Given the description of an element on the screen output the (x, y) to click on. 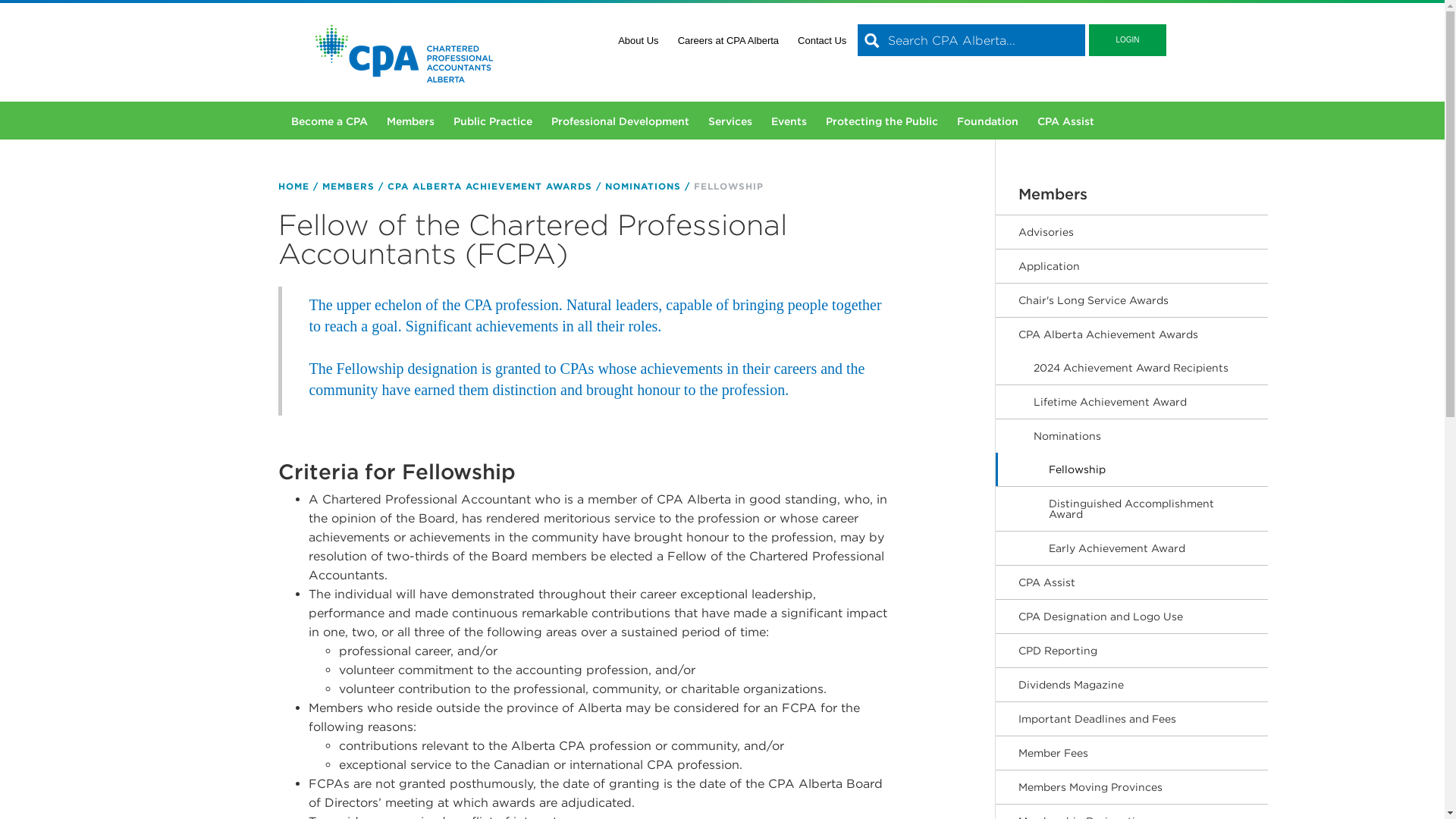
Events (788, 117)
NOMINATIONS (643, 185)
Protecting the Public (881, 117)
CPA Assist (1065, 117)
Services (729, 117)
Professional Development (619, 117)
HOME (293, 185)
Contact Us (821, 40)
MEMBERS (347, 185)
CPA ALBERTA ACHIEVEMENT AWARDS (489, 185)
About Us (637, 40)
Careers at CPA Alberta (727, 40)
Public Practice (492, 117)
Foundation (986, 117)
Become a CPA (329, 117)
